Given the description of an element on the screen output the (x, y) to click on. 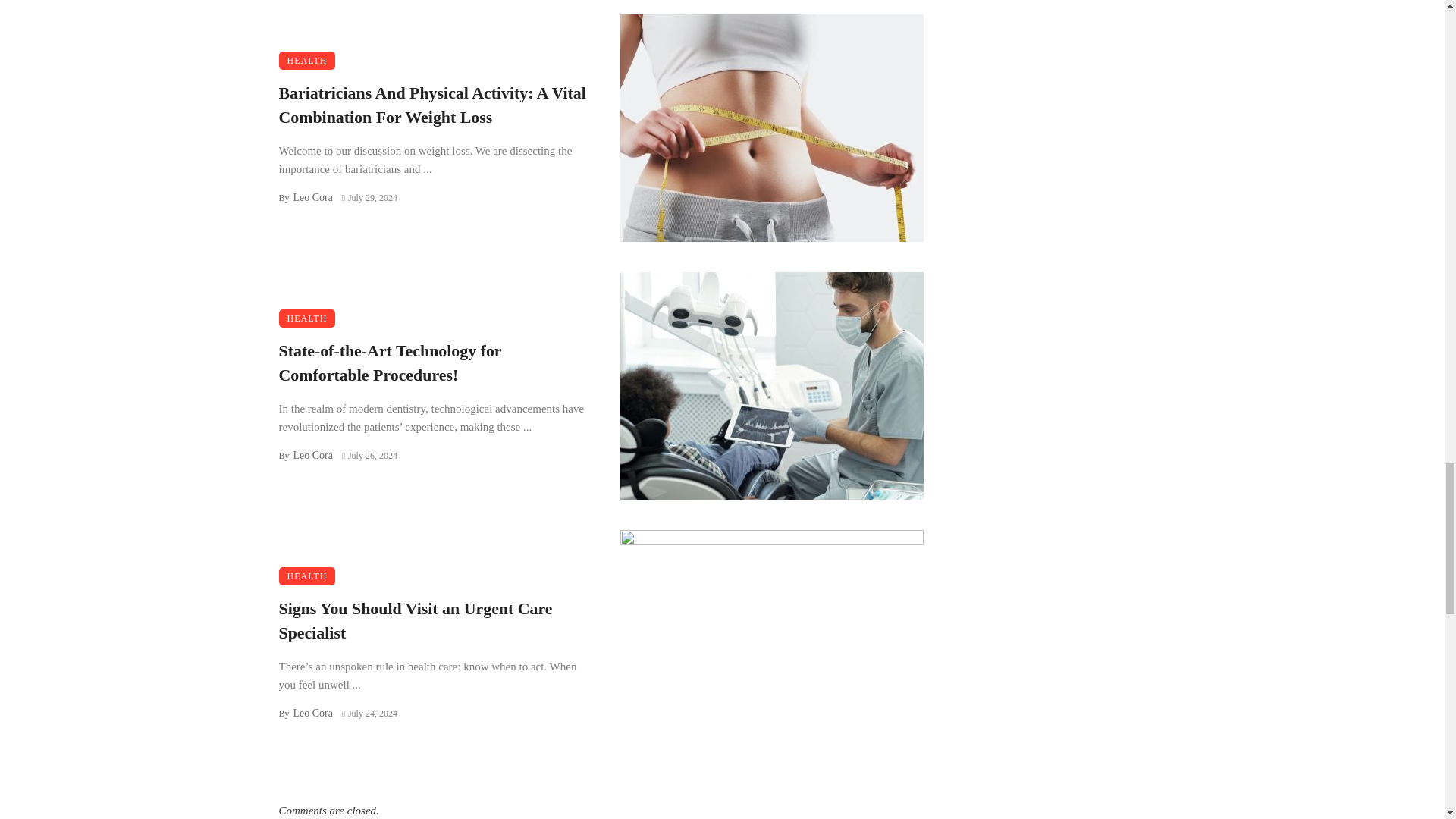
HEALTH (307, 60)
